Given the description of an element on the screen output the (x, y) to click on. 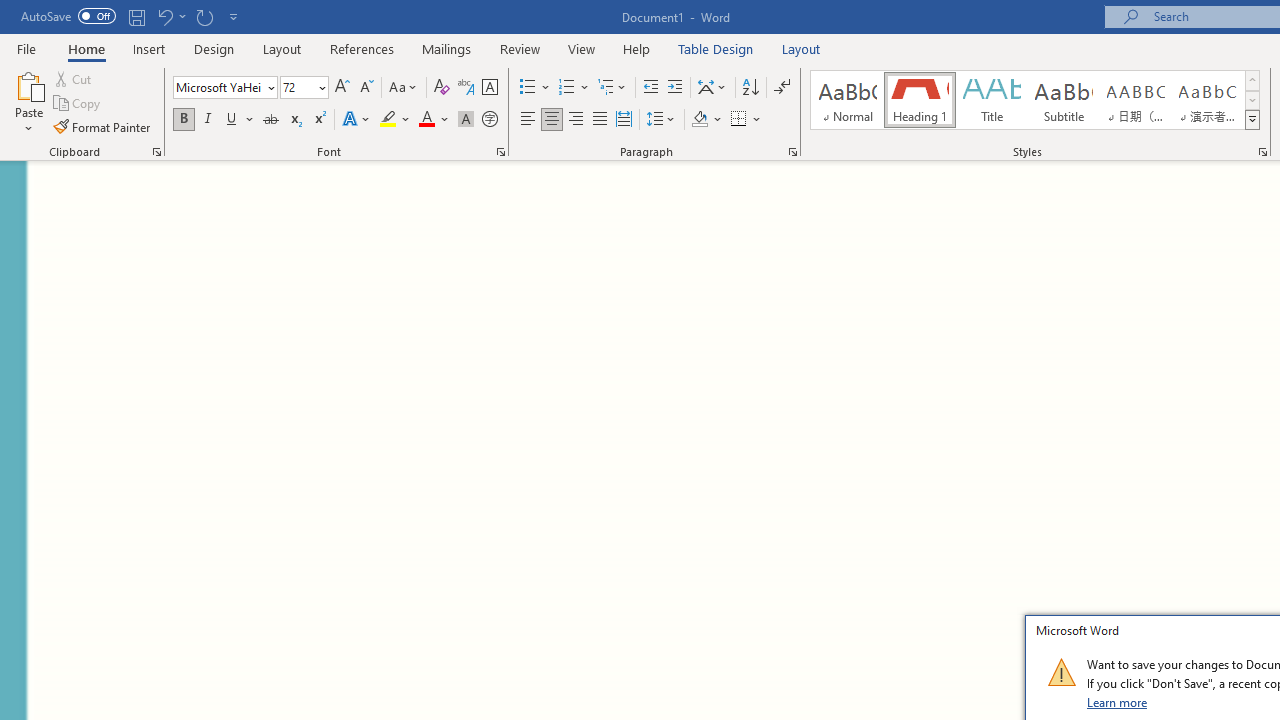
AutomationID: QuickStylesGallery (1035, 99)
Row Down (1252, 100)
Paragraph... (792, 151)
Decrease Indent (650, 87)
Phonetic Guide... (465, 87)
Align Right (575, 119)
Format Painter (103, 126)
Italic (207, 119)
Clear Formatting (442, 87)
